Given the description of an element on the screen output the (x, y) to click on. 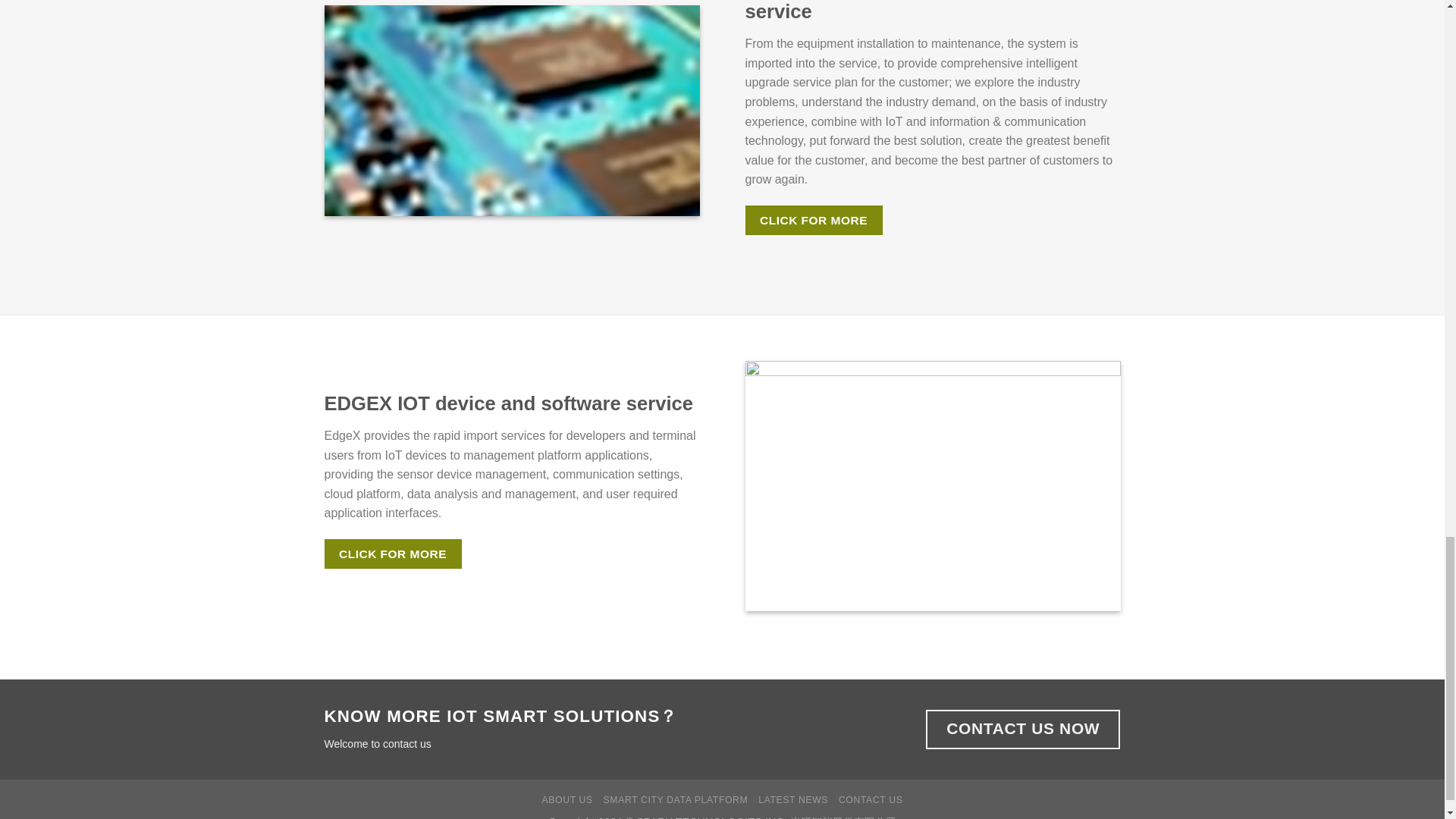
CLICK FOR MORE (813, 220)
CLICK FOR MORE (392, 553)
CONTACT US NOW (1022, 730)
